Given the description of an element on the screen output the (x, y) to click on. 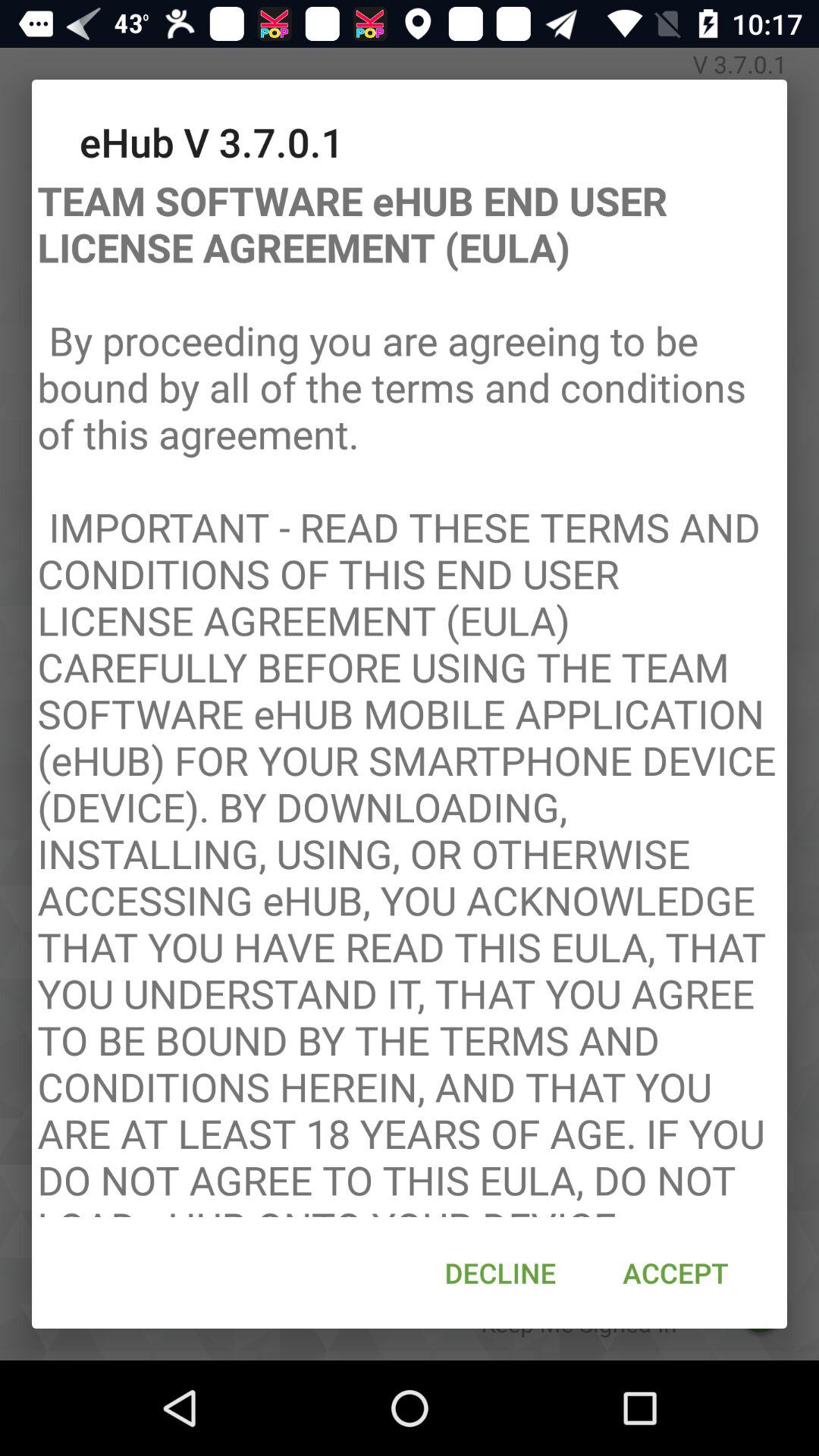
scroll to team software ehub app (409, 692)
